Given the description of an element on the screen output the (x, y) to click on. 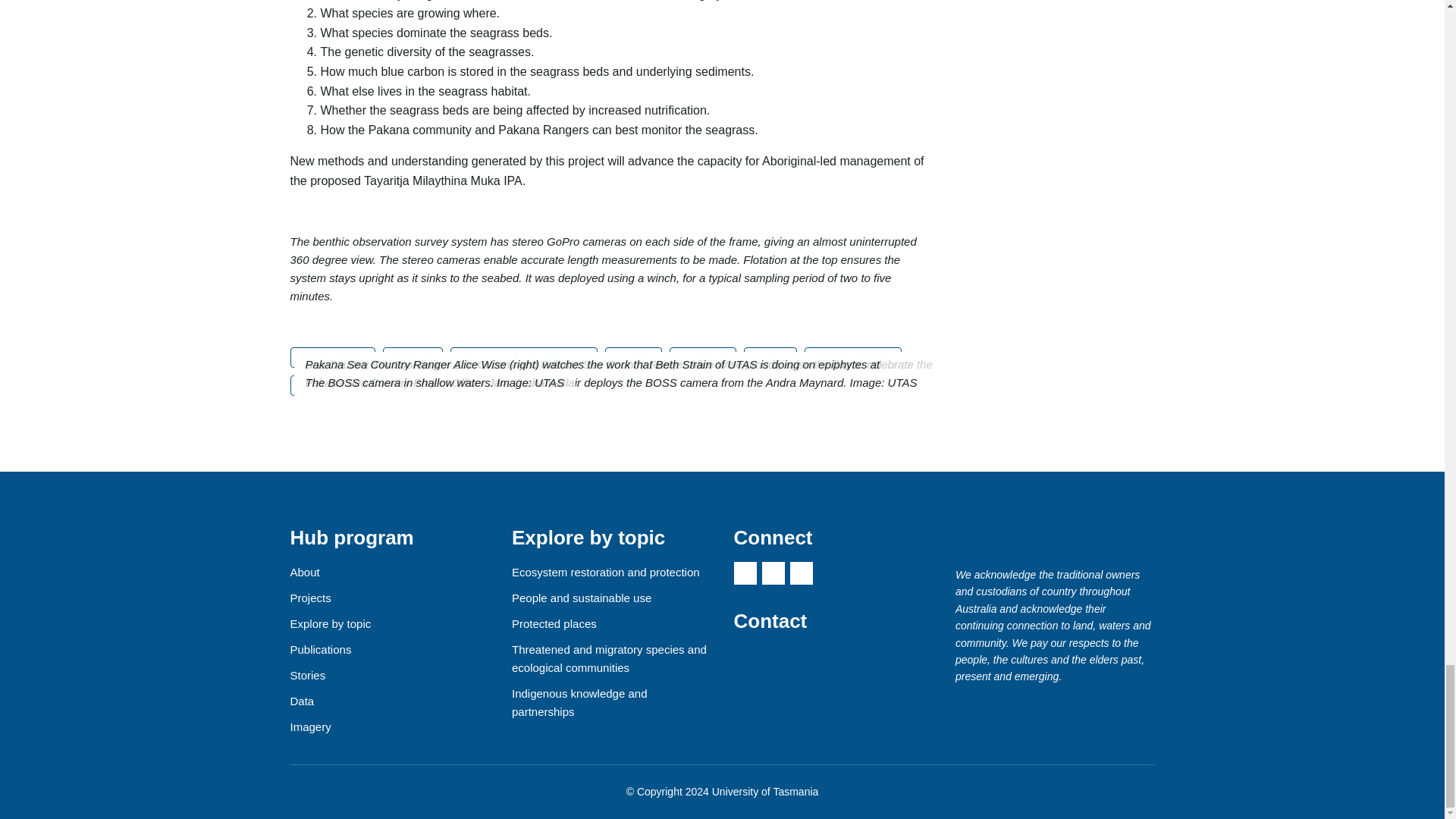
surveys (770, 357)
sediment (536, 385)
Projects (309, 597)
coastal management (441, 385)
Indigenous knowledge (634, 385)
Explore by topic (330, 623)
habitat mapping (749, 385)
seagrass (412, 357)
coastal habitat (331, 357)
About (303, 571)
Indigenous Protected Areas (522, 357)
monitoring (702, 357)
intertidal habitats (853, 357)
mapping (633, 357)
citizen science (332, 385)
